Given the description of an element on the screen output the (x, y) to click on. 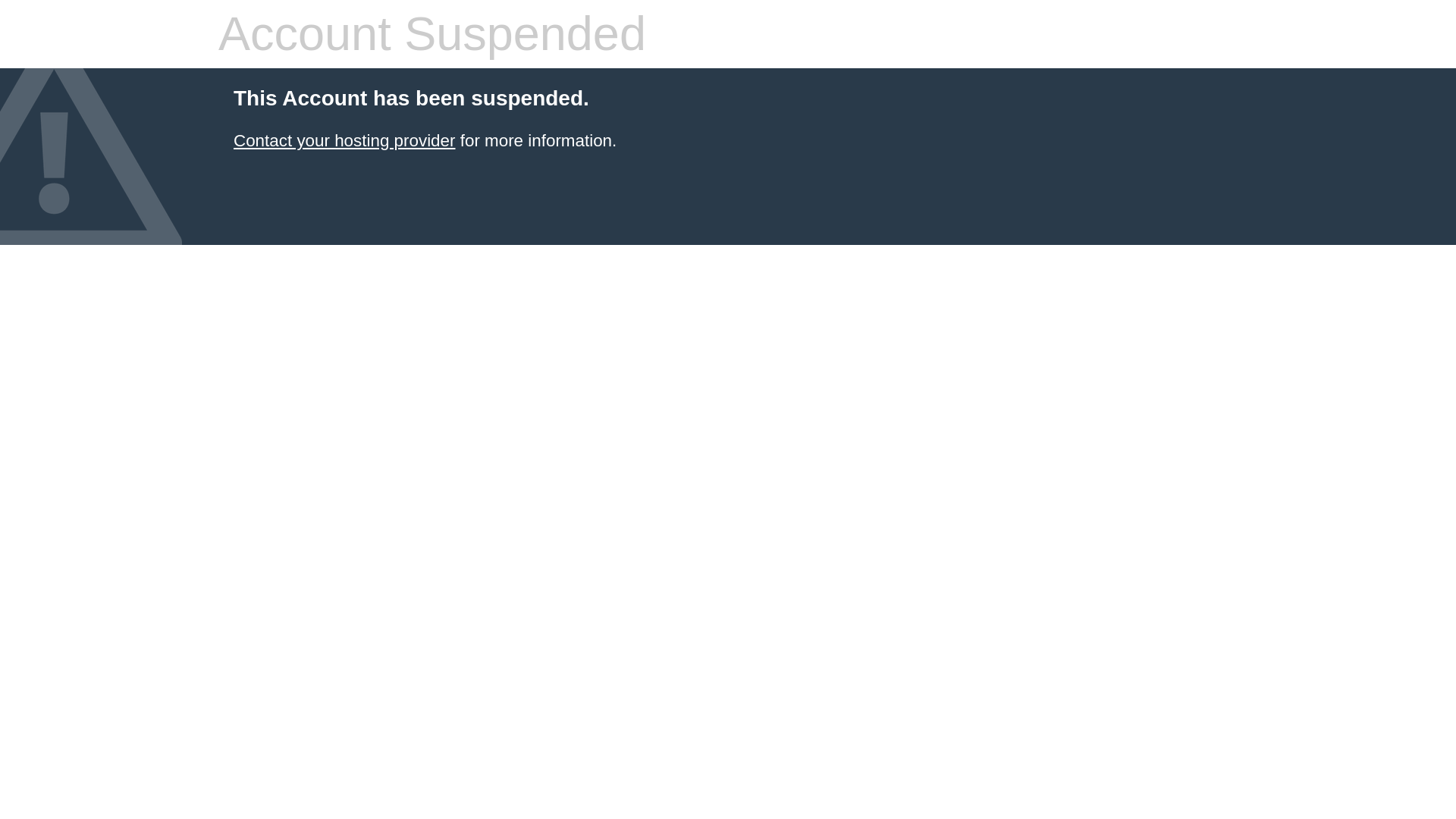
Contact your hosting provider (343, 140)
